Given the description of an element on the screen output the (x, y) to click on. 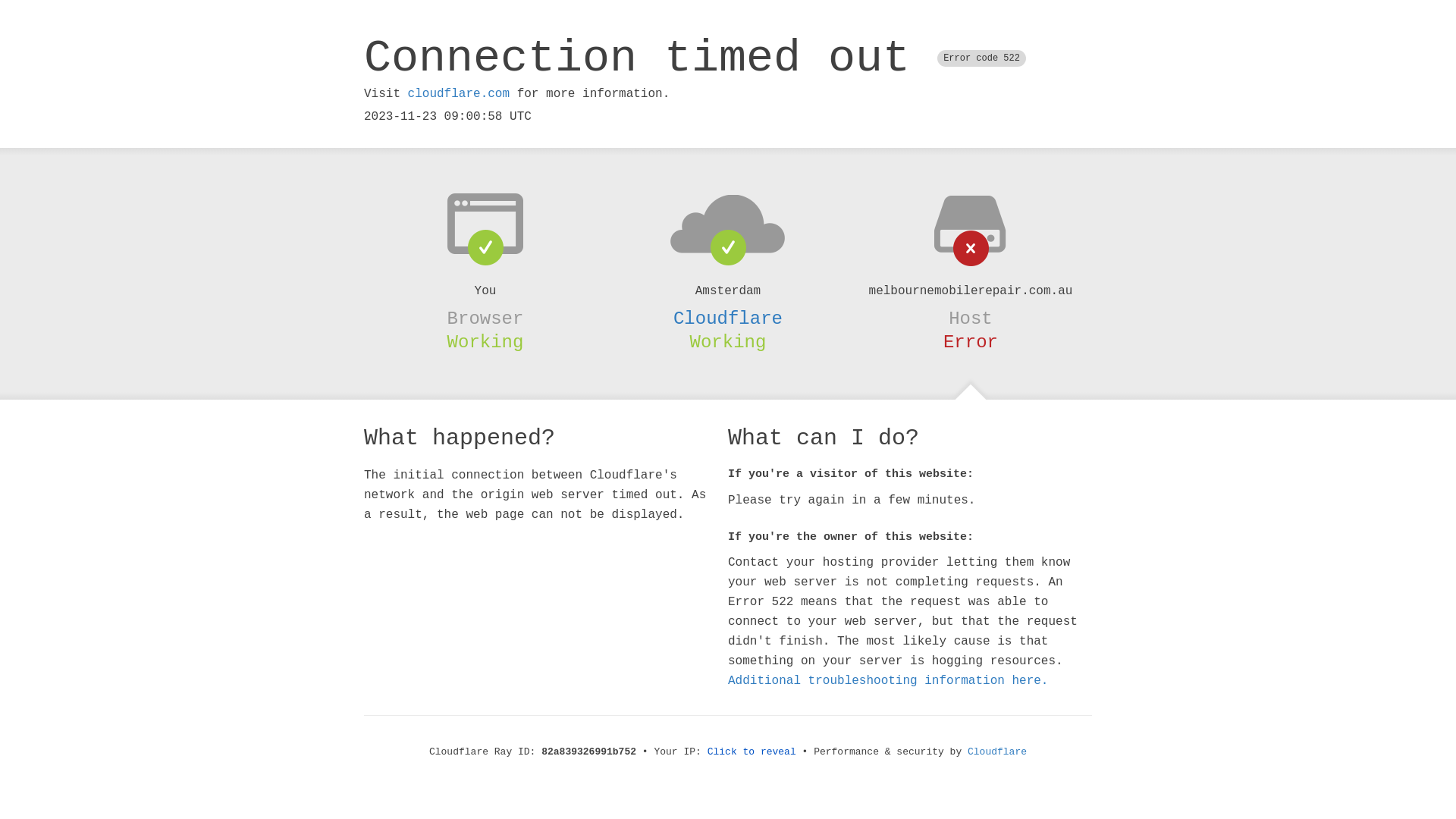
cloudflare.com Element type: text (458, 93)
Cloudflare Element type: text (996, 751)
Additional troubleshooting information here. Element type: text (888, 680)
Cloudflare Element type: text (727, 318)
Click to reveal Element type: text (751, 751)
